Given the description of an element on the screen output the (x, y) to click on. 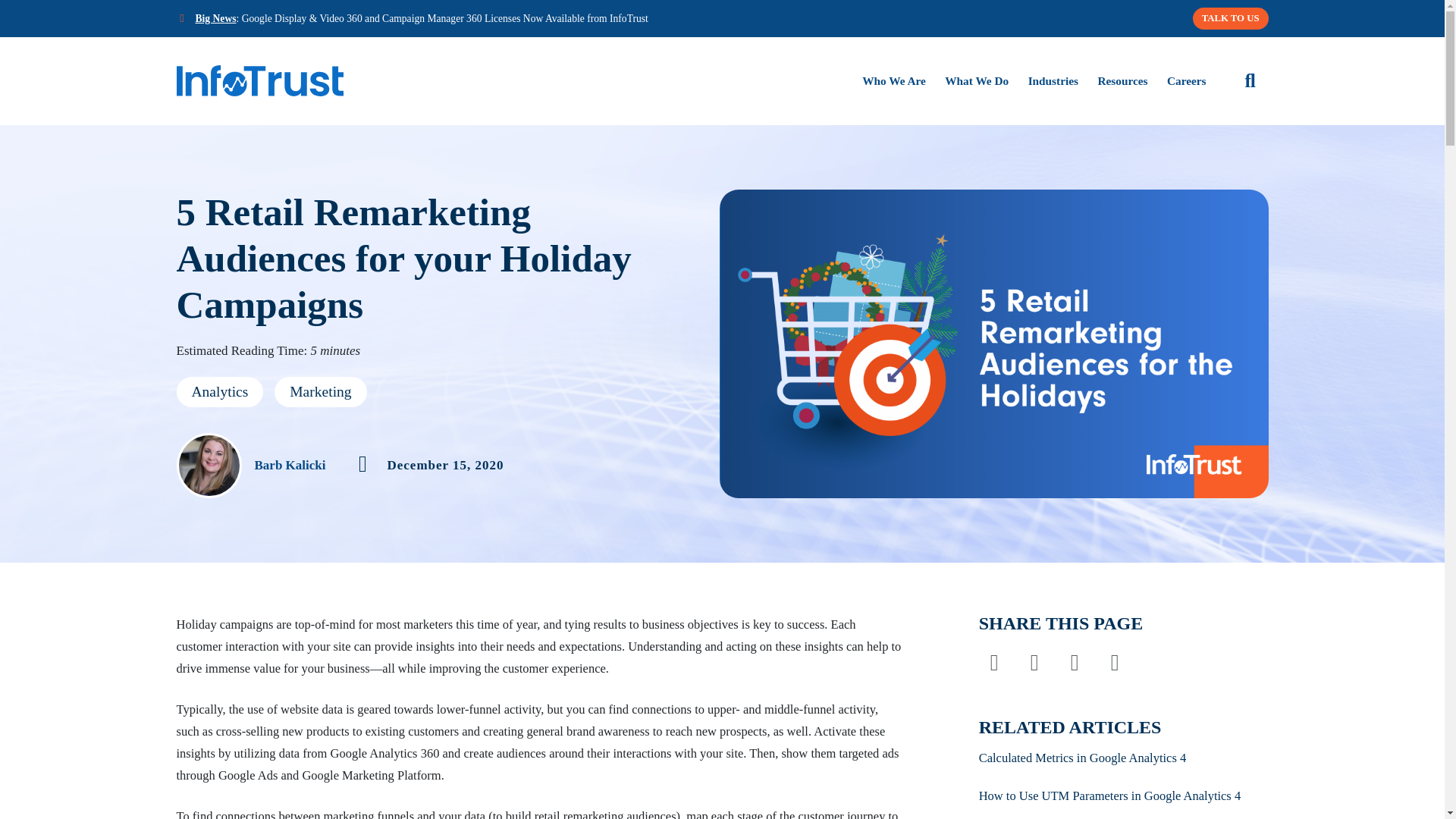
Analytics (219, 391)
Industries (1052, 80)
Marketing (320, 391)
TALK TO US (1230, 18)
Barb Kalicki (290, 464)
Careers (1187, 80)
Resources (1122, 80)
Who We Are (893, 80)
What We Do (976, 80)
